Given the description of an element on the screen output the (x, y) to click on. 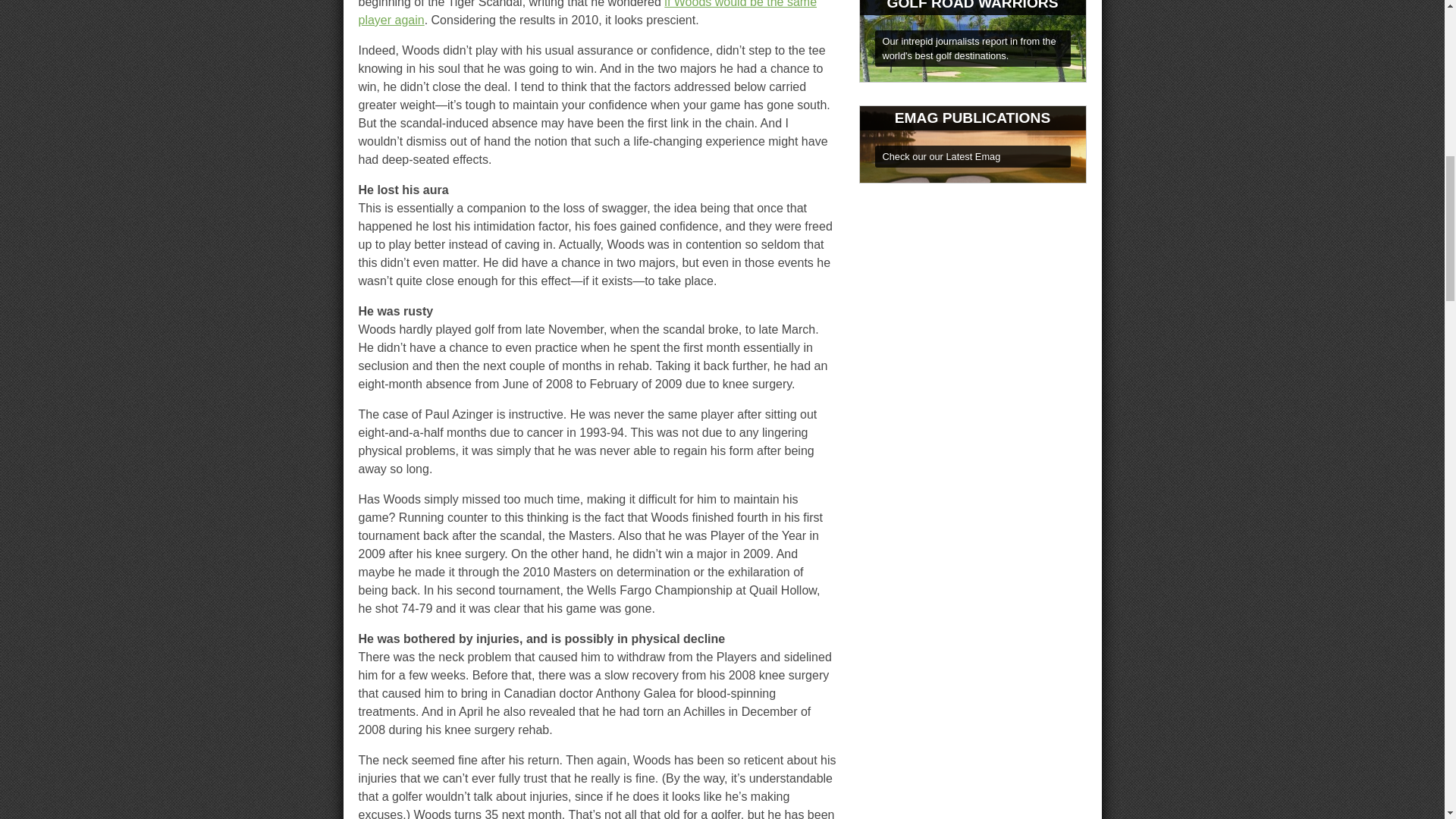
if Woods would be the same player again (587, 13)
